Given the description of an element on the screen output the (x, y) to click on. 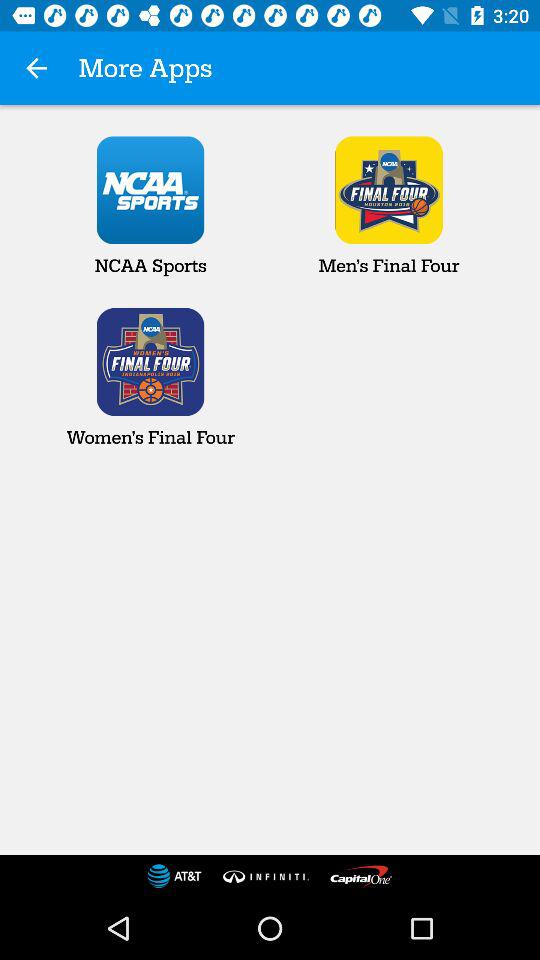
turn on the item next to men s final item (150, 206)
